Given the description of an element on the screen output the (x, y) to click on. 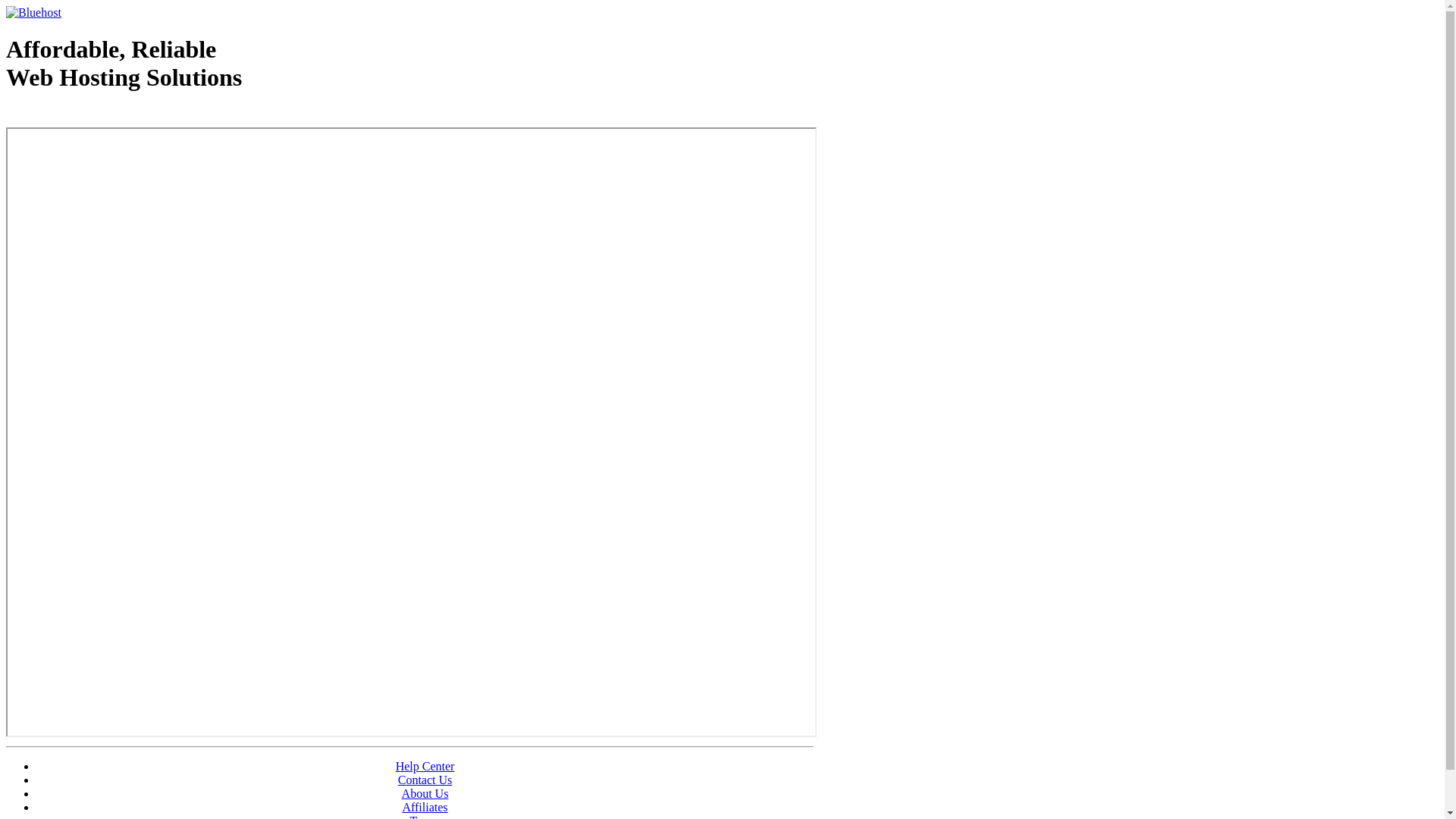
About Us Element type: text (424, 793)
Contact Us Element type: text (425, 779)
Web Hosting - courtesy of www.bluehost.com Element type: text (94, 115)
Help Center Element type: text (425, 765)
Affiliates Element type: text (424, 806)
